Given the description of an element on the screen output the (x, y) to click on. 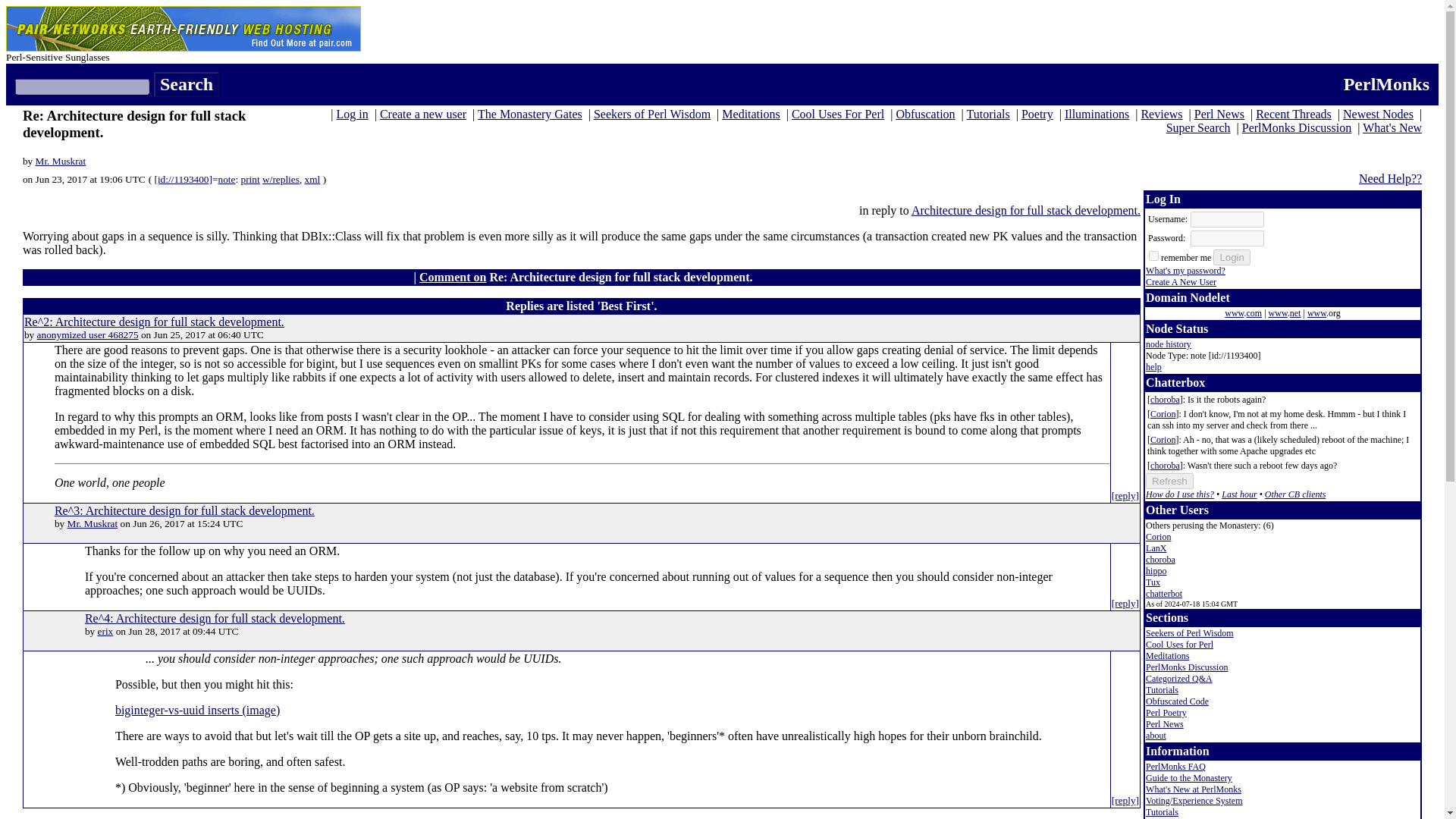
Perl News (1218, 113)
Seekers of Perl Wisdom (652, 113)
PerlMonks (1386, 84)
Search (186, 84)
Create a new user (422, 113)
Tux's home node. Level 20 (1152, 582)
Search (186, 84)
PerlMonks Discussion (1296, 127)
note (226, 179)
Refresh (1169, 480)
Log in (352, 113)
Reviews (1161, 113)
Poetry (1037, 113)
erix (105, 631)
Comment on (452, 277)
